Given the description of an element on the screen output the (x, y) to click on. 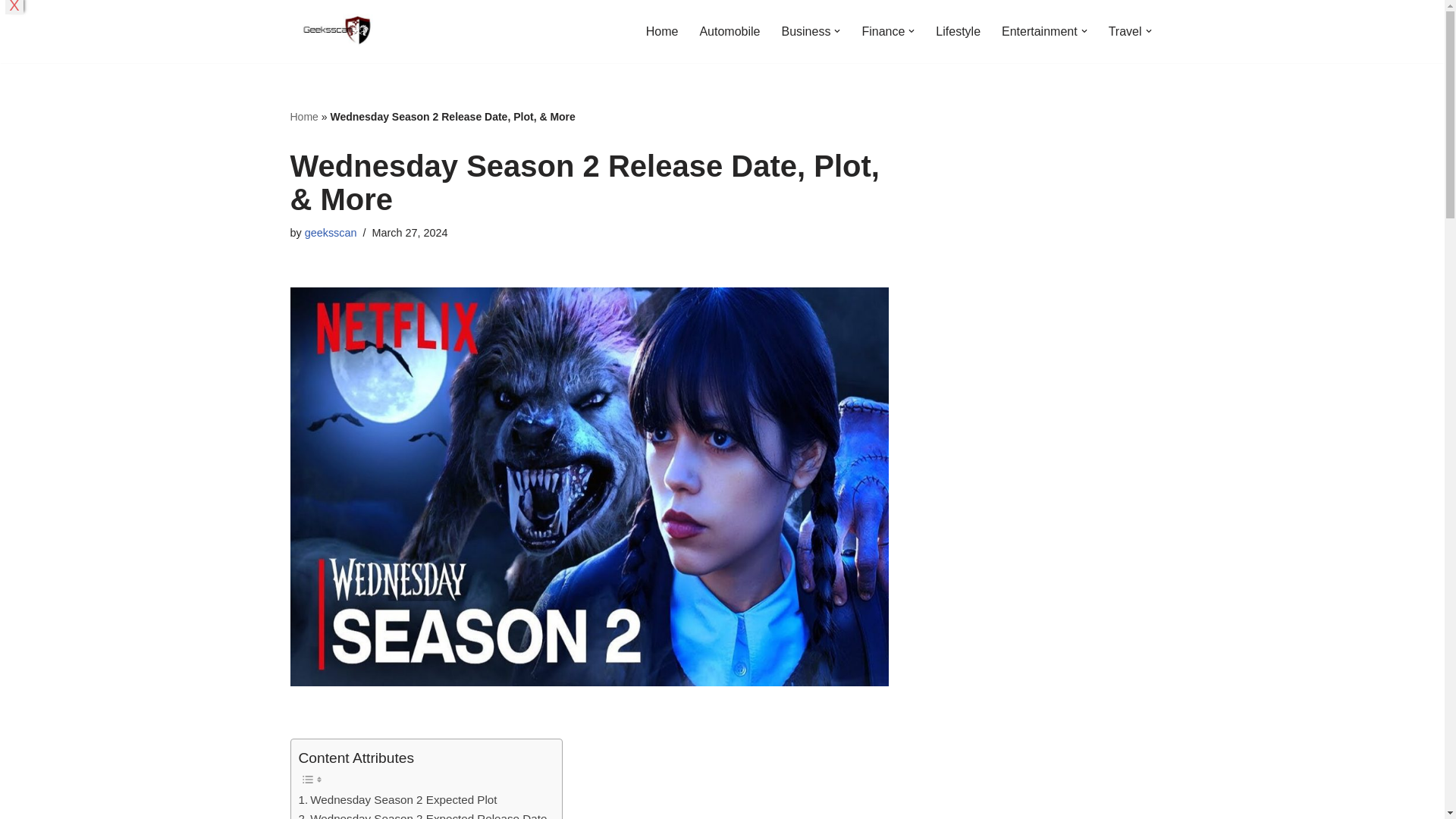
Automobile (729, 31)
Travel (1124, 31)
Entertainment (1039, 31)
Skip to content (11, 31)
Business (804, 31)
Lifestyle (957, 31)
Wednesday Season 2 Expected Plot (397, 800)
Wednesday Season 2 Expected Release Date (422, 814)
Home (662, 31)
Advertisement (1044, 723)
Posts by geeksscan (330, 232)
Finance (882, 31)
